Given the description of an element on the screen output the (x, y) to click on. 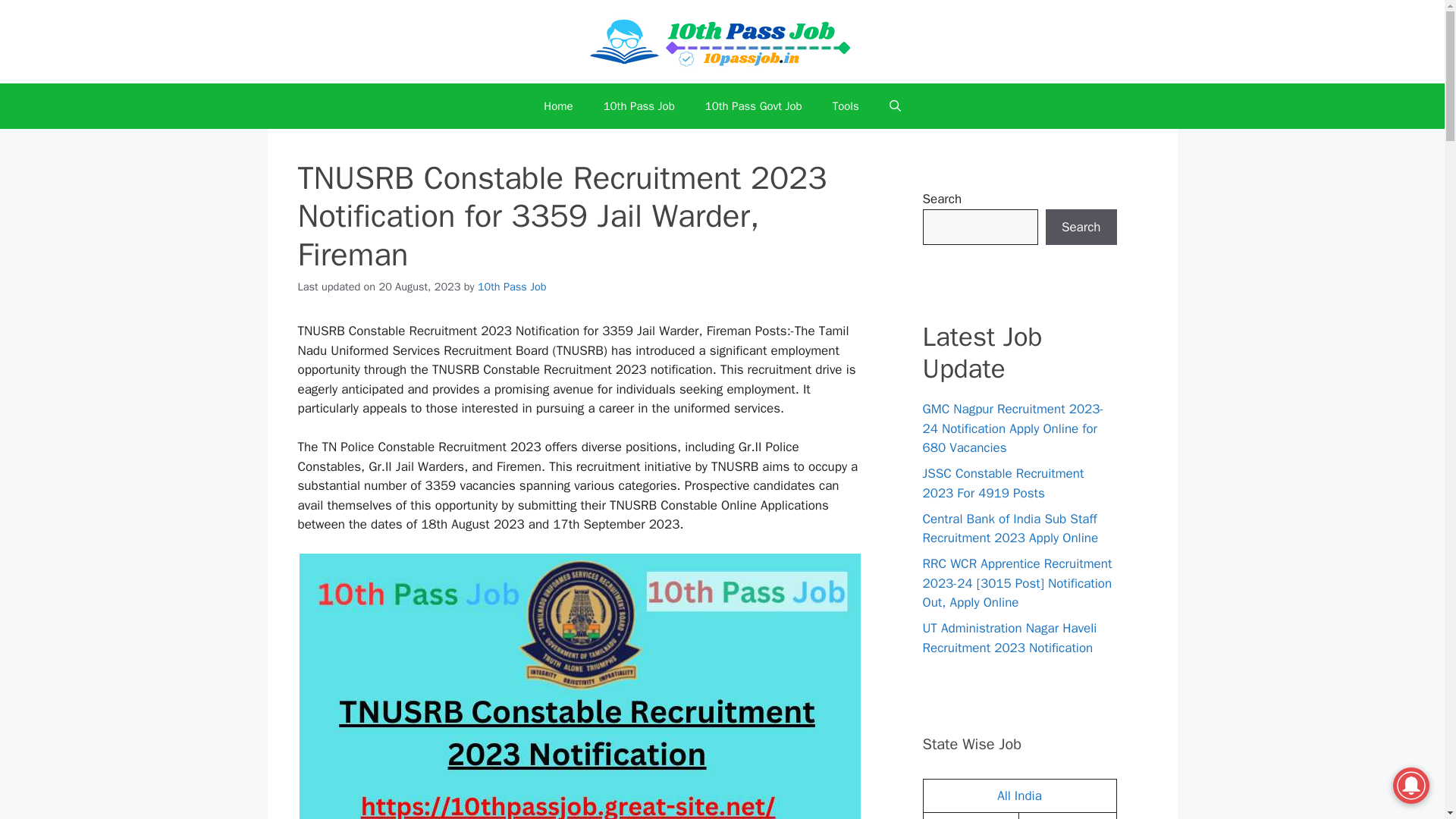
10th Pass Job (639, 105)
10th Pass Job (512, 286)
View all posts by 10th Pass Job (512, 286)
Tools (845, 105)
10th Pass Govt Job (753, 105)
Home (558, 105)
